Given the description of an element on the screen output the (x, y) to click on. 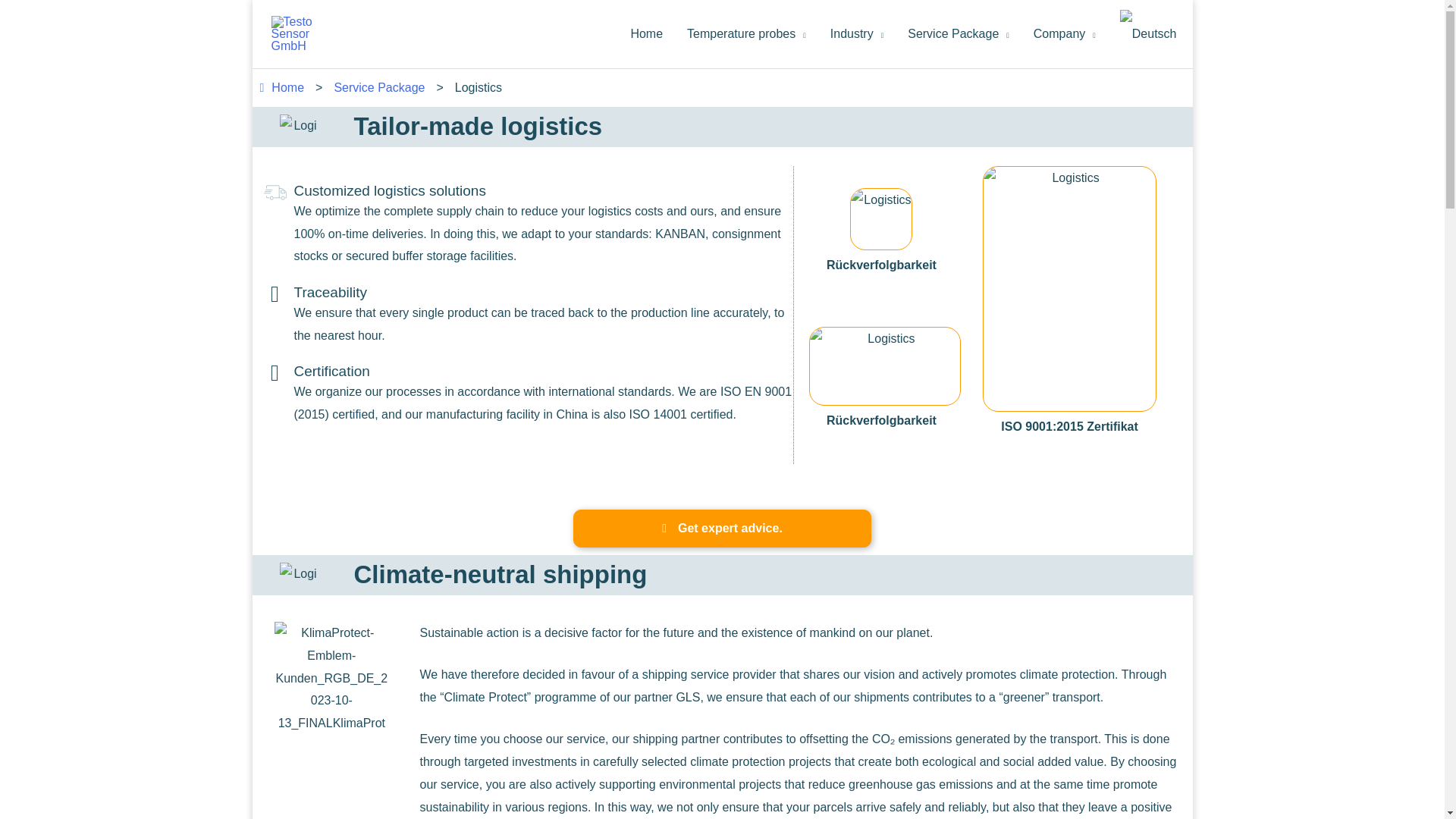
Industry (856, 33)
Temperature probes (746, 33)
Logistics (881, 219)
Logistics (298, 575)
Company (1065, 33)
Logistics (331, 678)
Logistics (298, 126)
Logistics (884, 365)
Home (646, 33)
Service Package (958, 33)
